Given the description of an element on the screen output the (x, y) to click on. 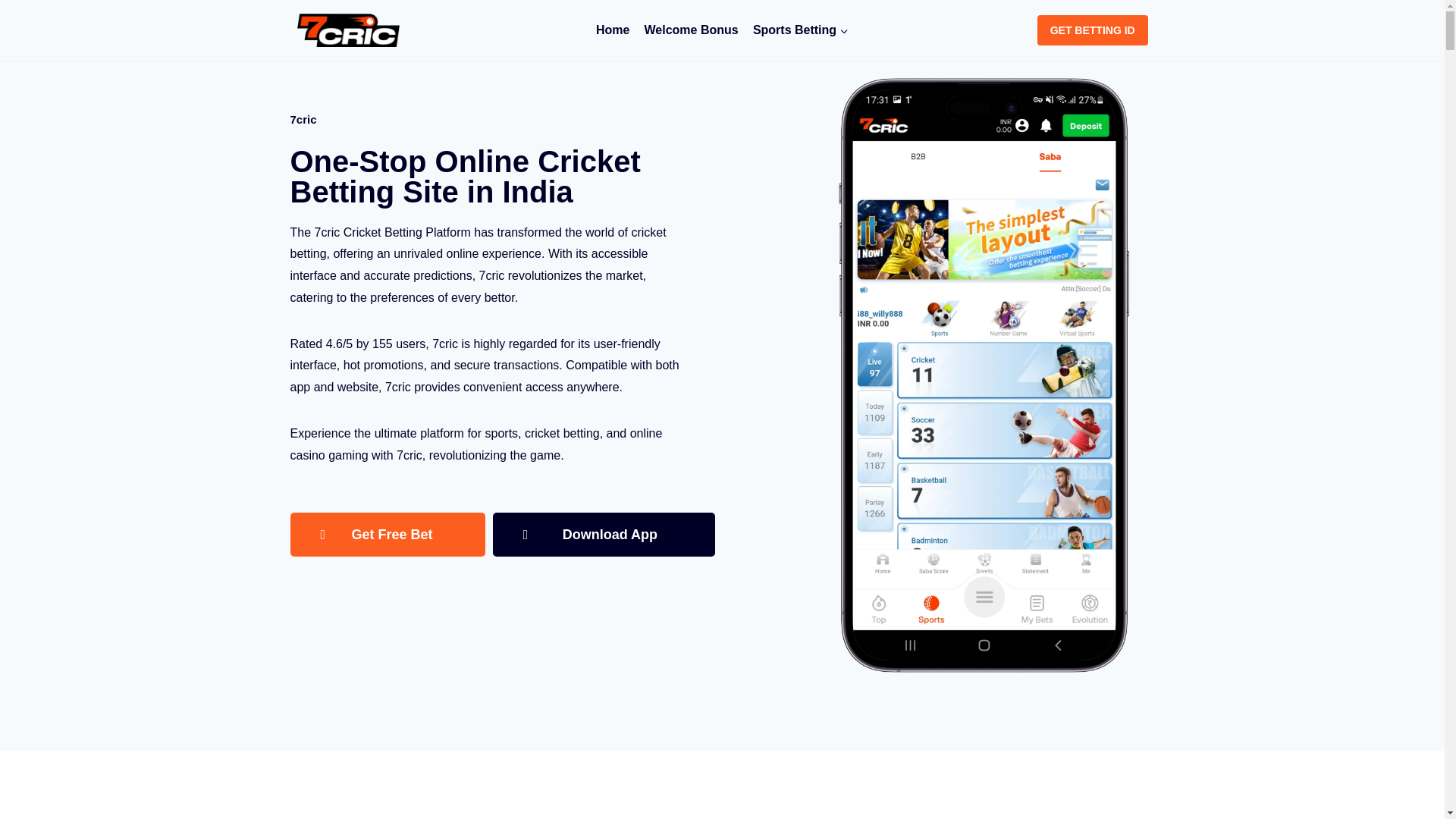
Sports Betting (800, 30)
7cric (612, 30)
Welcome Bonus (691, 30)
Sports Betting (800, 30)
Cricket Welcome Bonus (691, 30)
Get Free Bet (386, 534)
Download App (603, 534)
Home (612, 30)
GET BETTING ID (1092, 30)
